Given the description of an element on the screen output the (x, y) to click on. 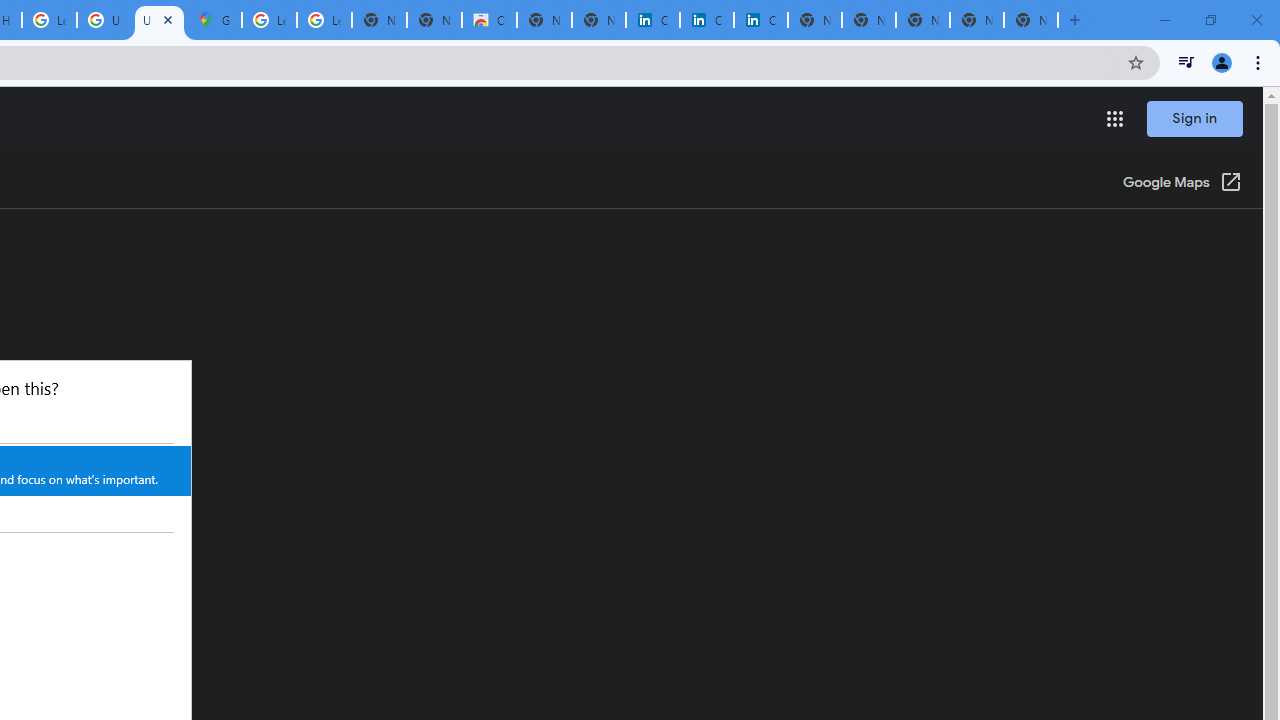
New Tab (1030, 20)
Cookie Policy | LinkedIn (706, 20)
Cookie Policy | LinkedIn (652, 20)
